Given the description of an element on the screen output the (x, y) to click on. 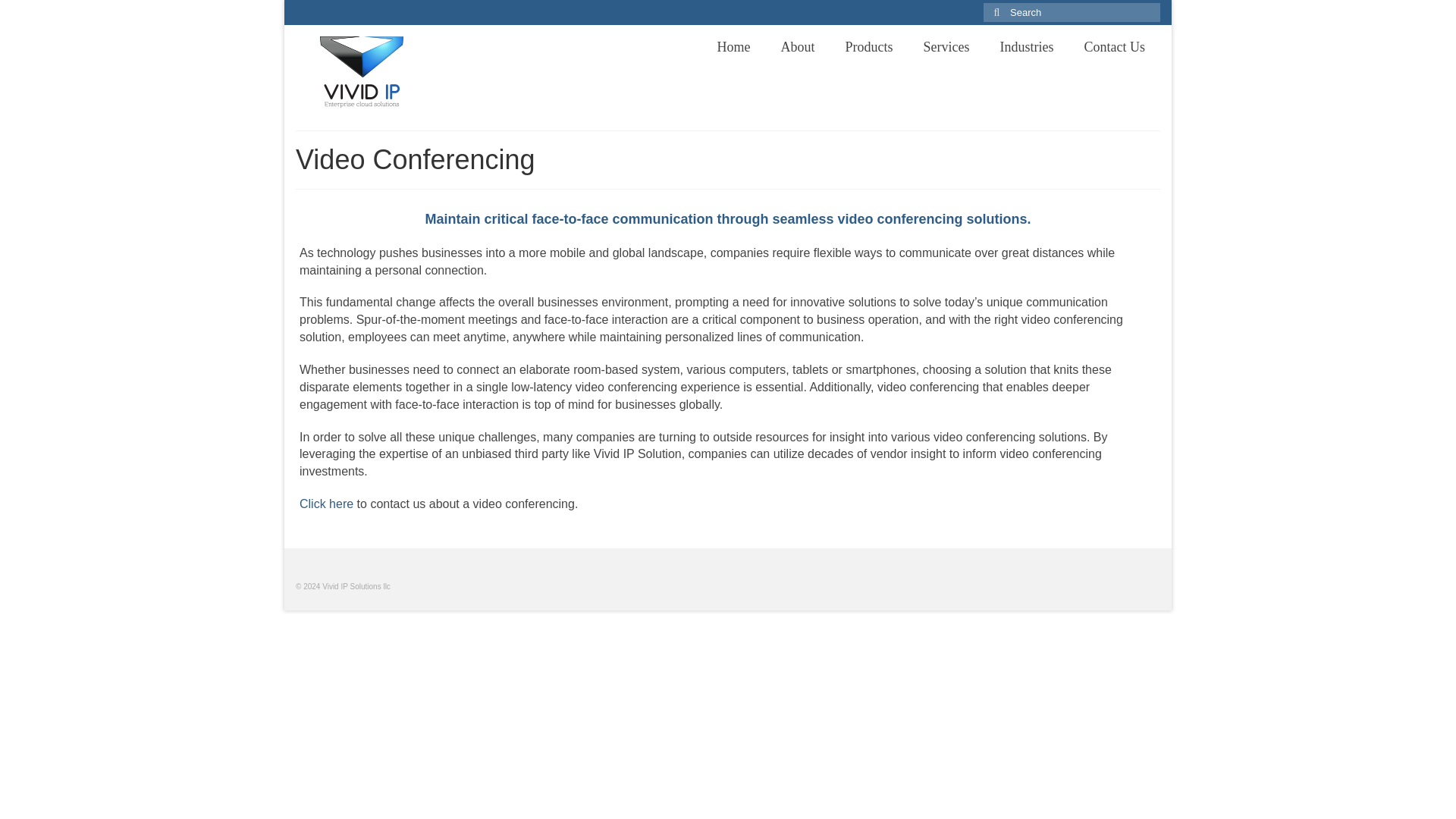
Industries (1026, 46)
Home (733, 46)
Products (868, 46)
Contact Us (1114, 46)
About (797, 46)
Services (945, 46)
